Given the description of an element on the screen output the (x, y) to click on. 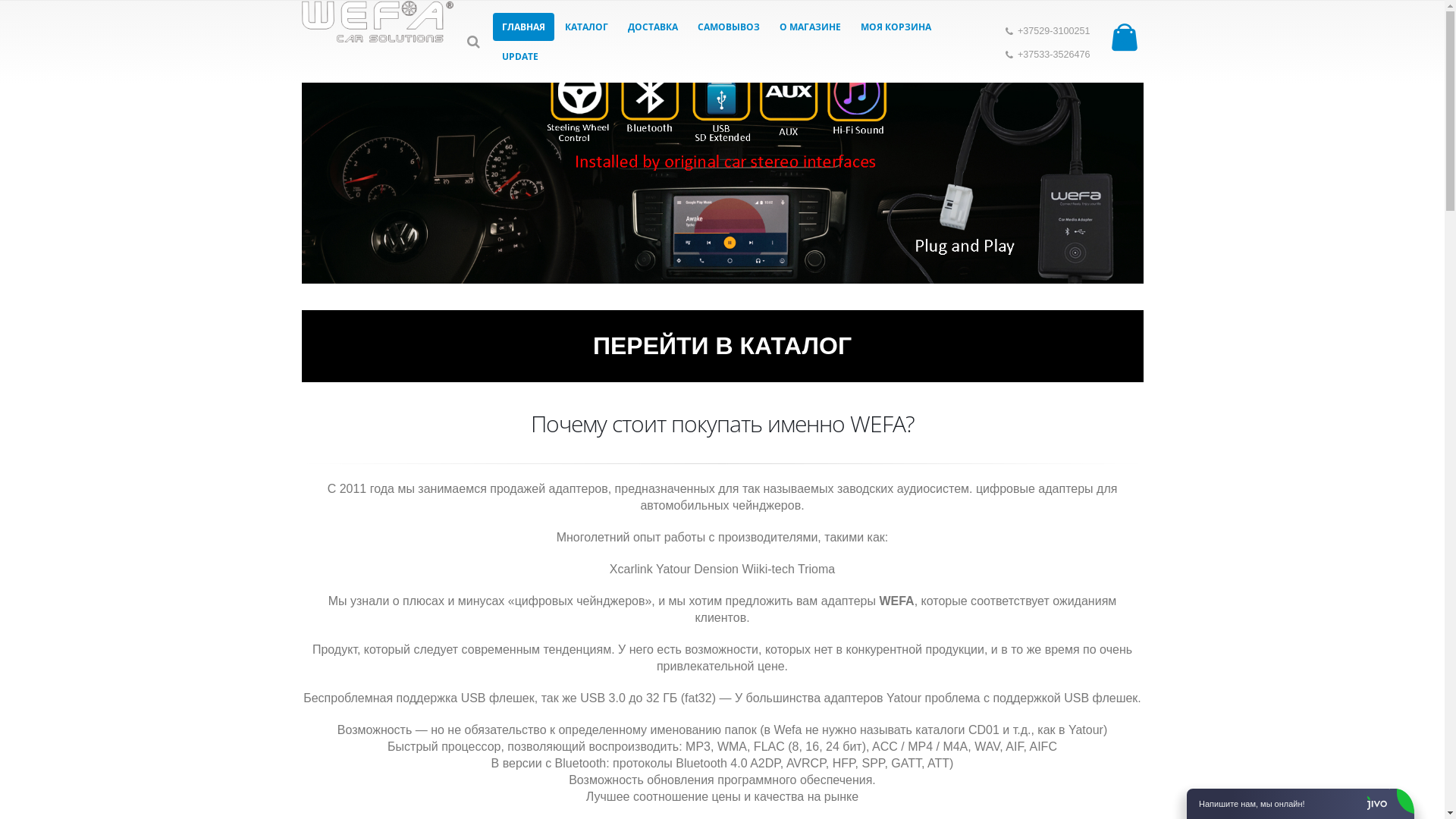
UPDATE Element type: text (519, 56)
